Given the description of an element on the screen output the (x, y) to click on. 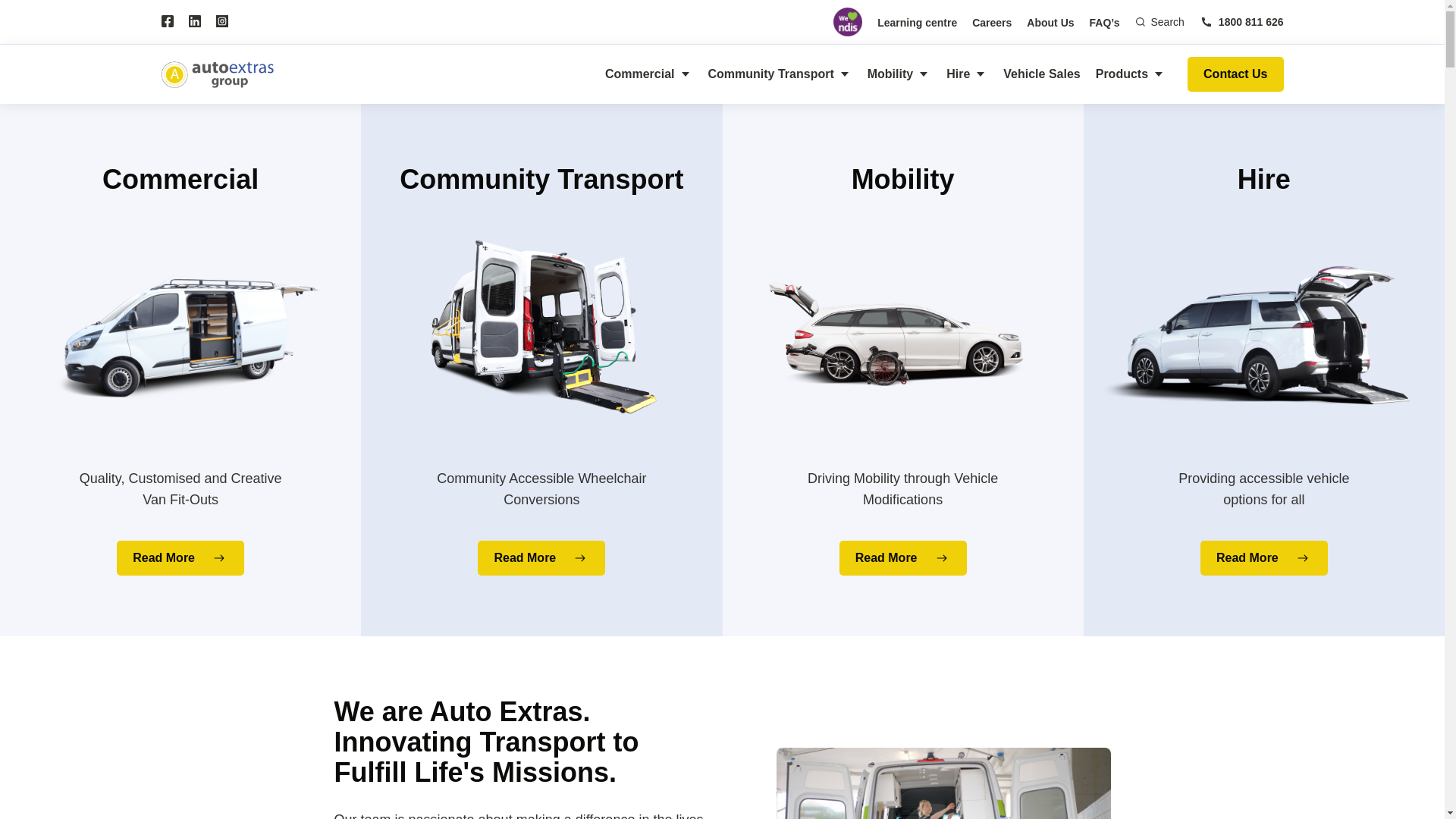
Hire Element type: text (967, 73)
Linkedin Element type: text (194, 20)
Hire
Providing accessible vehicle options for all
Read More Element type: text (1263, 369)
Contact Us Element type: text (1235, 73)
Community Transport Element type: text (780, 73)
Commercial Element type: text (649, 73)
Mobility Element type: text (899, 73)
Careers Element type: text (991, 22)
Instagram Element type: text (221, 20)
1800 811 626 Element type: text (1241, 21)
Vehicle Sales Element type: text (1041, 73)
Products Element type: text (1130, 73)
About Us Element type: text (1049, 22)
Facebook Element type: text (166, 20)
Learning centre Element type: text (917, 22)
